Given the description of an element on the screen output the (x, y) to click on. 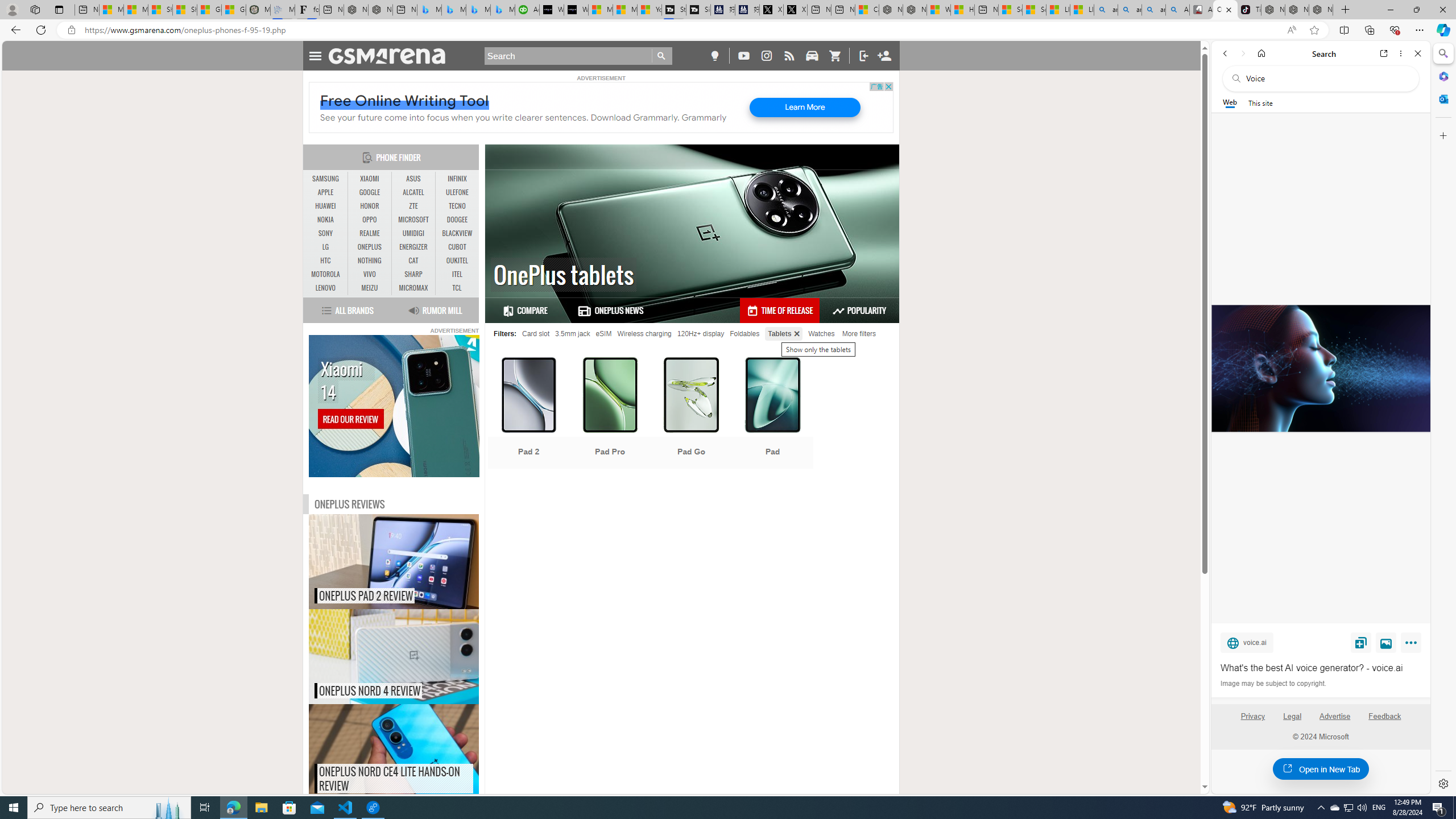
Legal (1291, 715)
SAMSUNG (325, 178)
TCL (457, 287)
Wireless charging (644, 333)
SHARP (413, 273)
Web scope (1230, 102)
HUAWEI (325, 206)
INFINIX (457, 178)
